Given the description of an element on the screen output the (x, y) to click on. 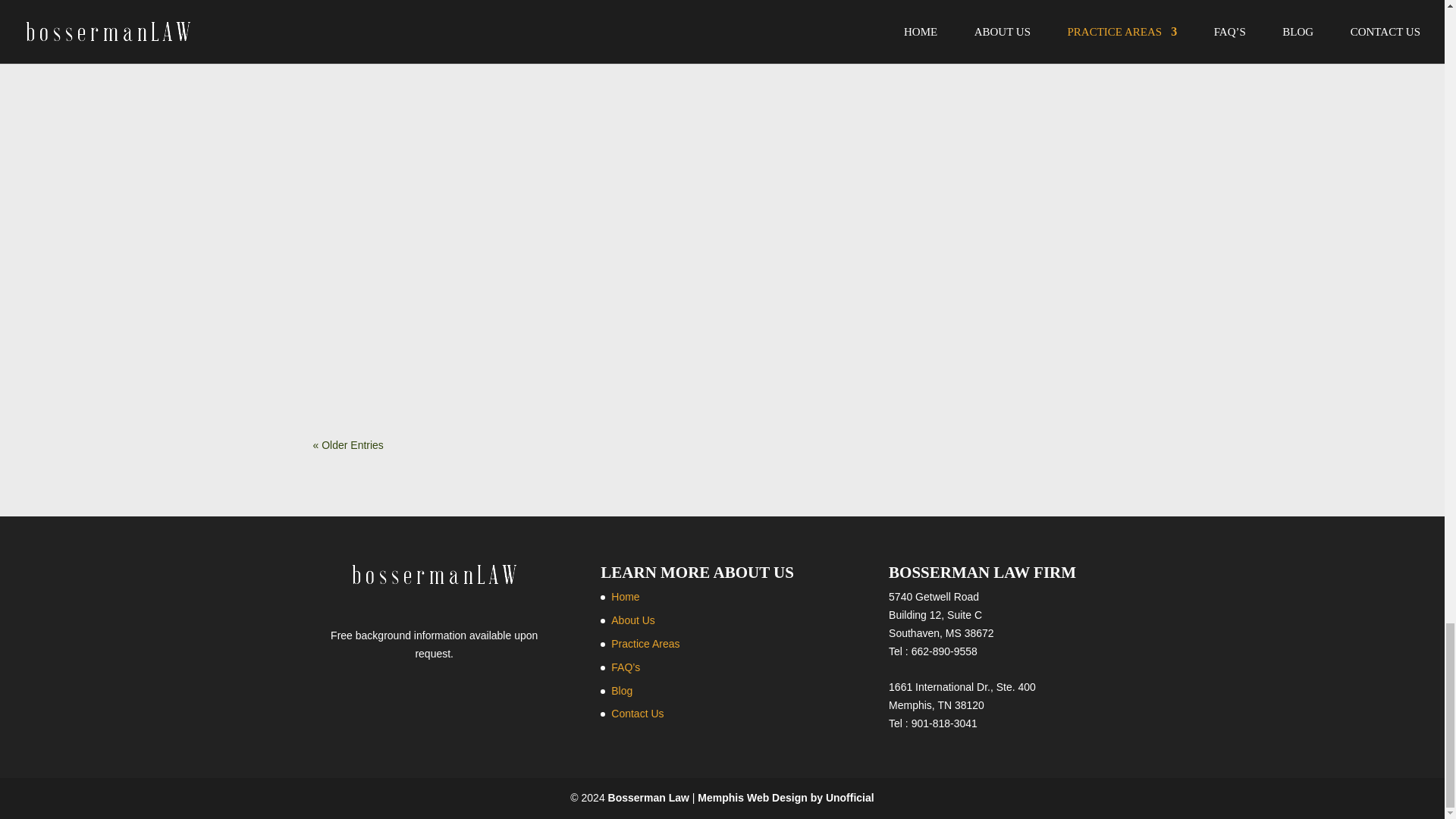
About Us (633, 620)
Home (625, 596)
Memphis Web Design by Unofficial (785, 797)
Contact Us (637, 713)
Blog (621, 690)
Practice Areas (645, 644)
